Given the description of an element on the screen output the (x, y) to click on. 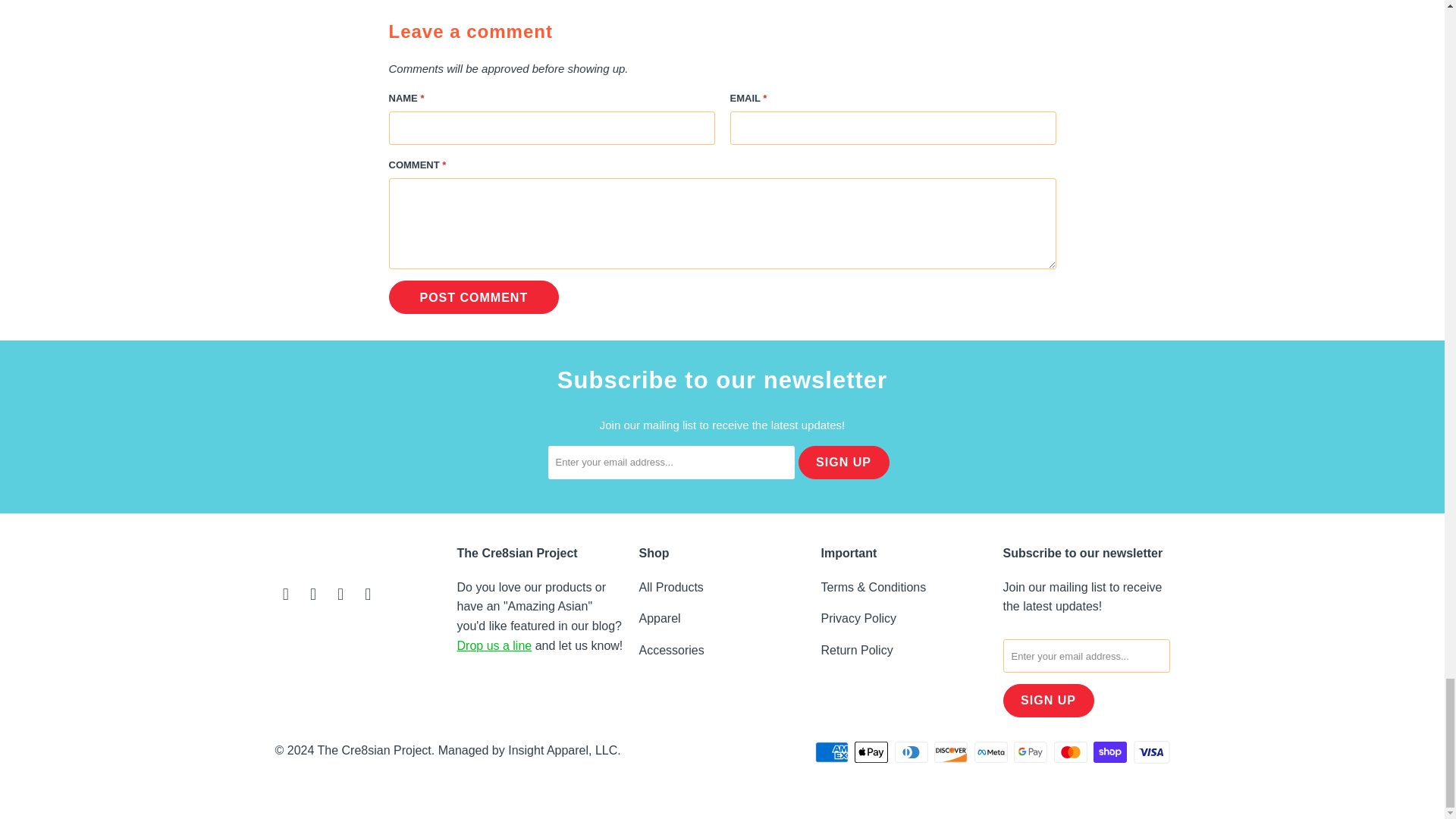
The Cre8sian Project on Facebook (313, 594)
Apple Pay (872, 752)
Sign Up (842, 462)
The Cre8sian Project on Twitter (286, 594)
Visa (1150, 752)
Mastercard (1072, 752)
American Express (833, 752)
Sign Up (1048, 700)
Meta Pay (992, 752)
Google Pay (1031, 752)
Discover (952, 752)
The Cre8sian Project on Instagram (341, 594)
Post comment (473, 296)
Shop Pay (1111, 752)
Diners Club (913, 752)
